Given the description of an element on the screen output the (x, y) to click on. 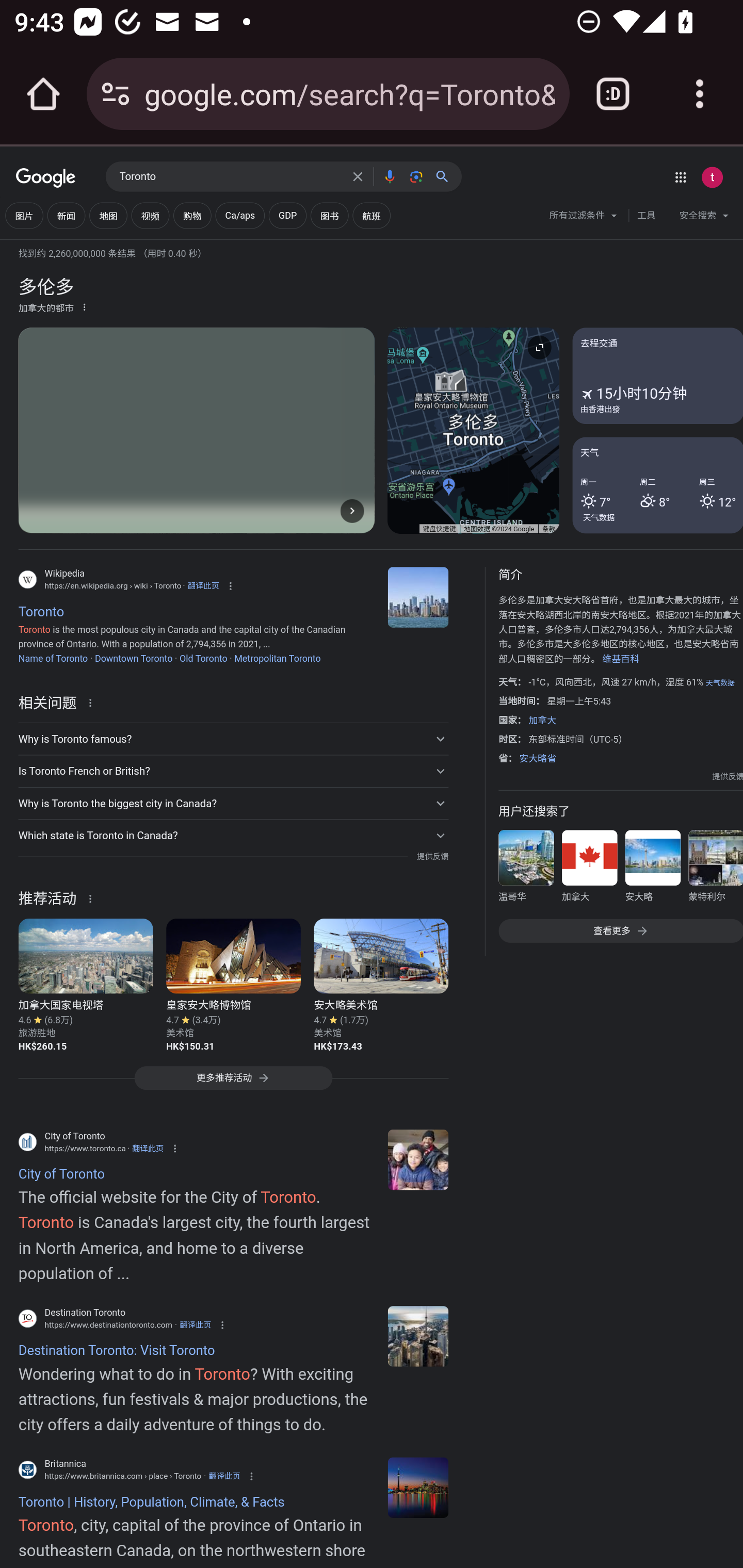
Open the home page (43, 93)
Connection is secure (115, 93)
Switch or close tabs (612, 93)
Customize and control Google Chrome (699, 93)
清除 (357, 176)
按语音搜索 (389, 176)
按图搜索 (415, 176)
搜索 (446, 176)
Google 应用 (680, 176)
Google 账号： test appium (testappium002@gmail.com) (712, 176)
Google (45, 178)
Toronto (229, 177)
图片 (24, 215)
新闻 (65, 215)
地图 (107, 215)
视频 (149, 215)
购物 (191, 215)
添加“Ca/aps” Ca/aps (239, 215)
添加“GDP” GDP (287, 215)
图书 (328, 215)
航班 (371, 215)
所有过滤条件 (583, 217)
工具 (646, 215)
安全搜索 (703, 217)
更多选项 (84, 306)
去程交通 15小时10分钟 乘坐飞机 由香港出發 (657, 375)
展开地图 (539, 346)
天气 周一 高温 7 度 周二 高温 8 度 周三 高温 12 度 (657, 484)
下一张图片 (352, 510)
天气数据 (599, 516)
Toronto (417, 597)
翻译此页 (203, 585)
Name of Toronto (52, 658)
Downtown Toronto (132, 658)
Old Toronto (203, 658)
Metropolitan Toronto (277, 658)
维基百科 (620, 658)
天气数据 (719, 682)
关于这条结果的详细信息 (93, 701)
加拿大 (541, 720)
Why is Toronto famous? (232, 738)
安大略省 (537, 758)
Is Toronto French or British? (232, 770)
提供反馈 (727, 775)
Why is Toronto the biggest city in Canada? (232, 803)
Which state is Toronto in Canada? (232, 835)
温哥华 (526, 869)
加拿大 (588, 869)
安大略 (652, 869)
蒙特利尔 (715, 869)
提供反馈 (432, 856)
关于这条结果的详细信息 (93, 897)
查看更多 查看更多 查看更多 (620, 930)
更多推荐活动 (232, 1082)
www.toronto (417, 1159)
翻译此页 (147, 1148)
www.destinationtoronto (417, 1336)
翻译此页 (195, 1324)
Toronto (417, 1486)
翻译此页 (224, 1476)
